Given the description of an element on the screen output the (x, y) to click on. 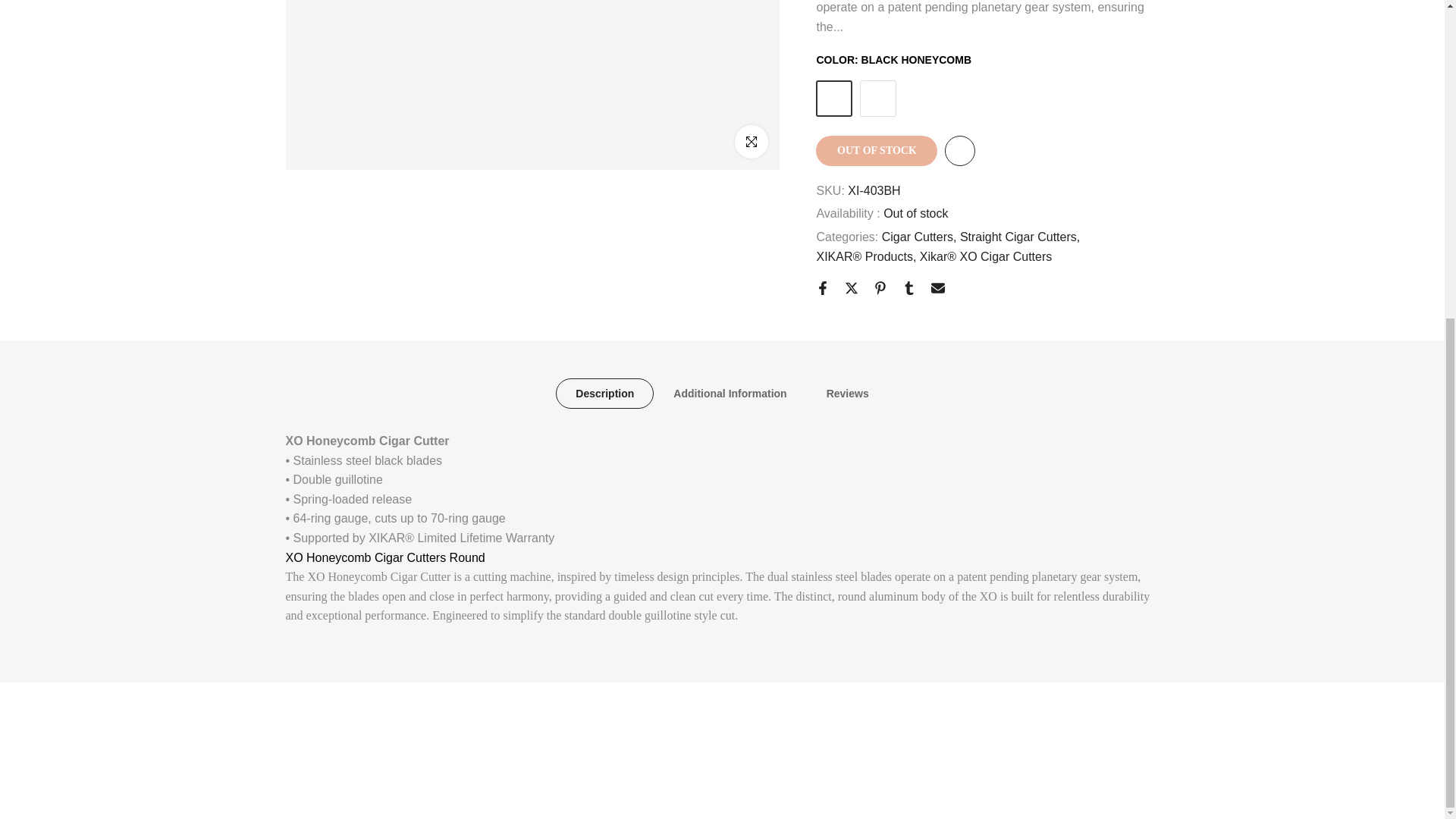
Share on Email (937, 133)
Share on Tumblr (908, 133)
Share on Facebook (822, 133)
Cigar Cutters (919, 82)
Straight Cigar Cutters (1019, 82)
Share on Pinterest (879, 133)
Share on Twitter (851, 133)
OUT OF STOCK (876, 5)
